Given the description of an element on the screen output the (x, y) to click on. 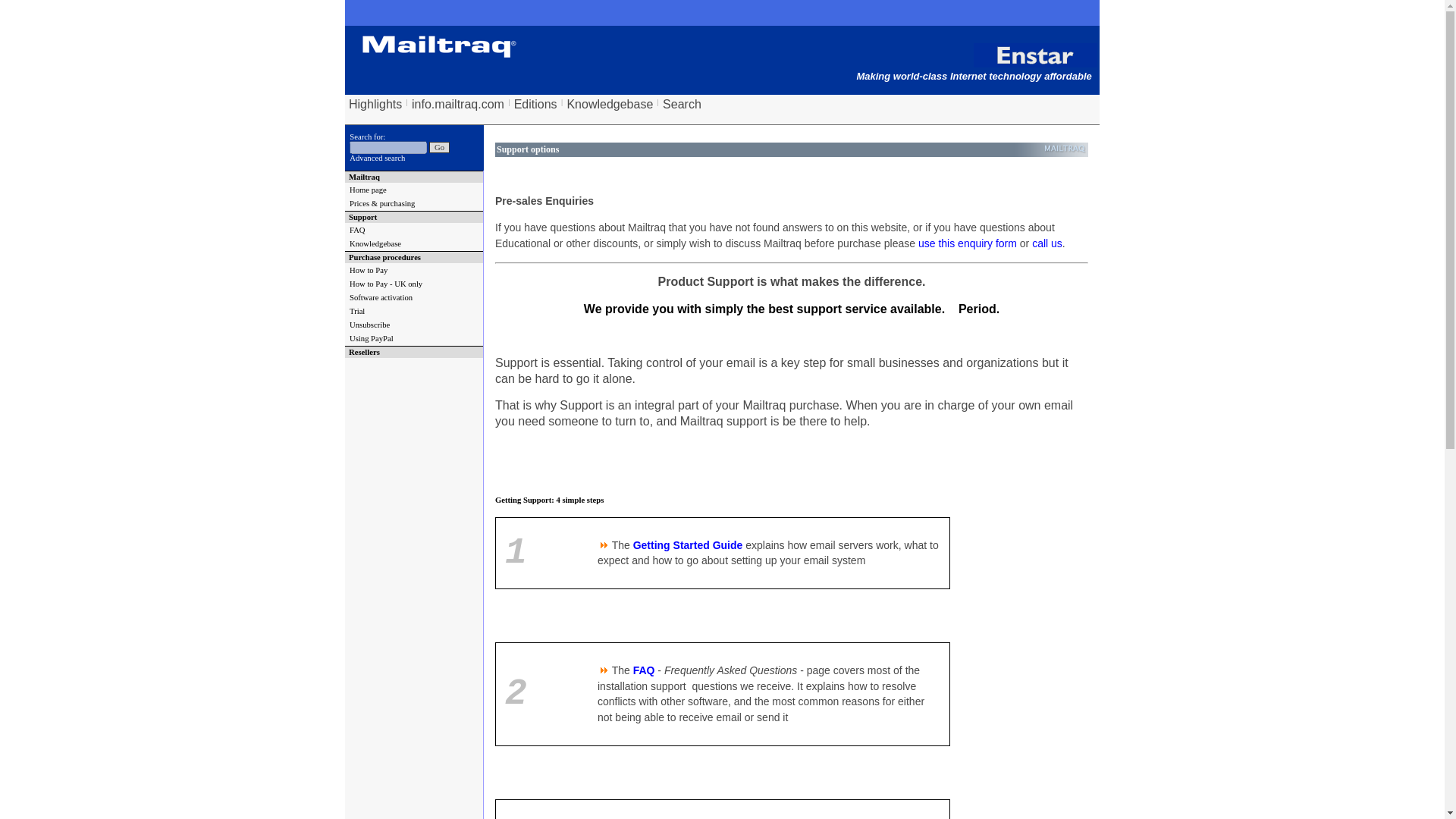
FAQ (413, 229)
info.mailtraq.com (457, 104)
Go (439, 147)
Unsubscribe (413, 324)
Search (681, 104)
Advanced search (376, 157)
Using PayPal (413, 338)
use this enquiry form (967, 243)
call us (1047, 243)
FAQ (645, 670)
